Given the description of an element on the screen output the (x, y) to click on. 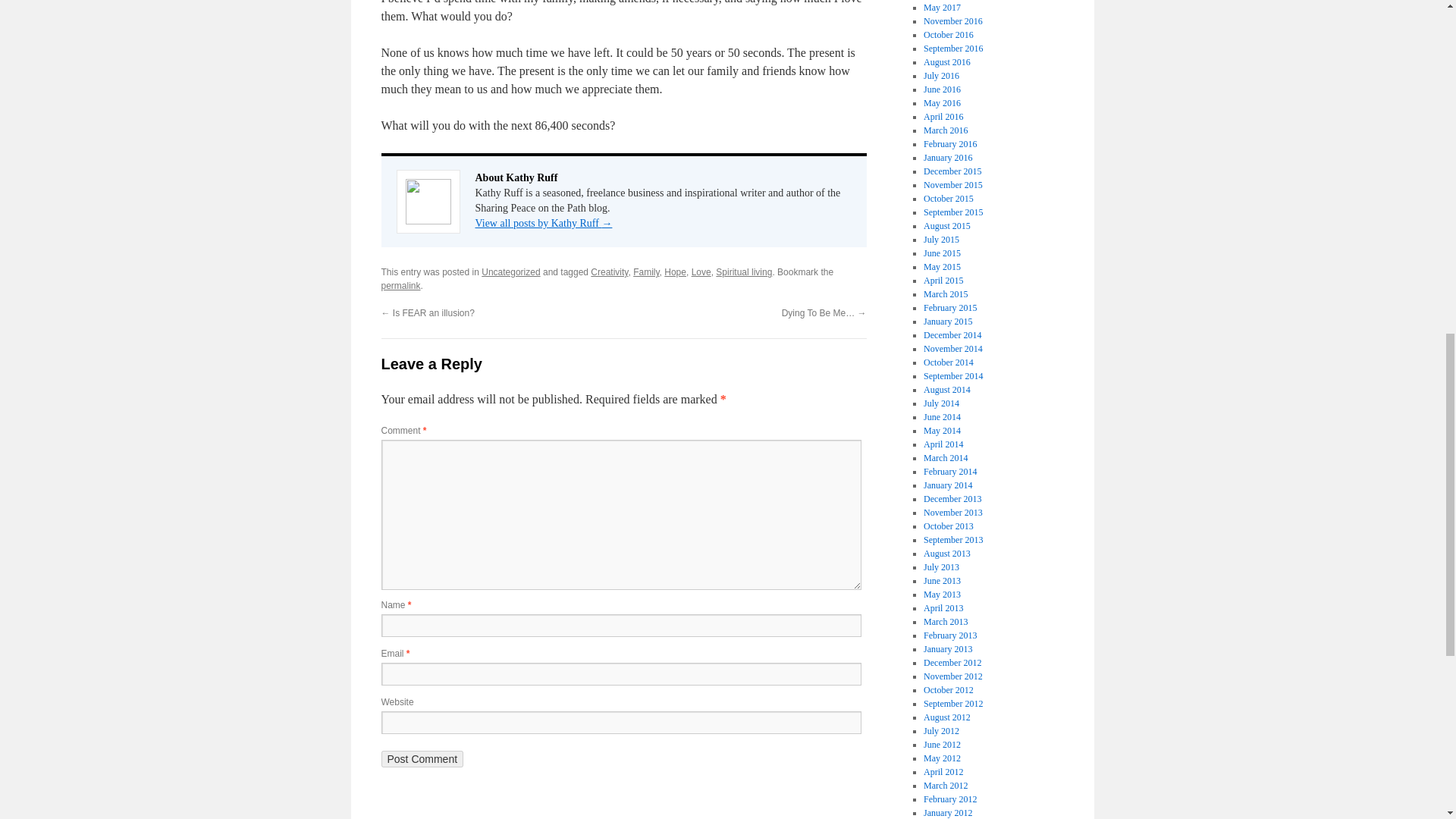
permalink (400, 285)
Family (646, 271)
Love (701, 271)
Uncategorized (510, 271)
Spiritual living (743, 271)
Post Comment (421, 759)
Hope (674, 271)
Post Comment (421, 759)
Creativity (609, 271)
